Given the description of an element on the screen output the (x, y) to click on. 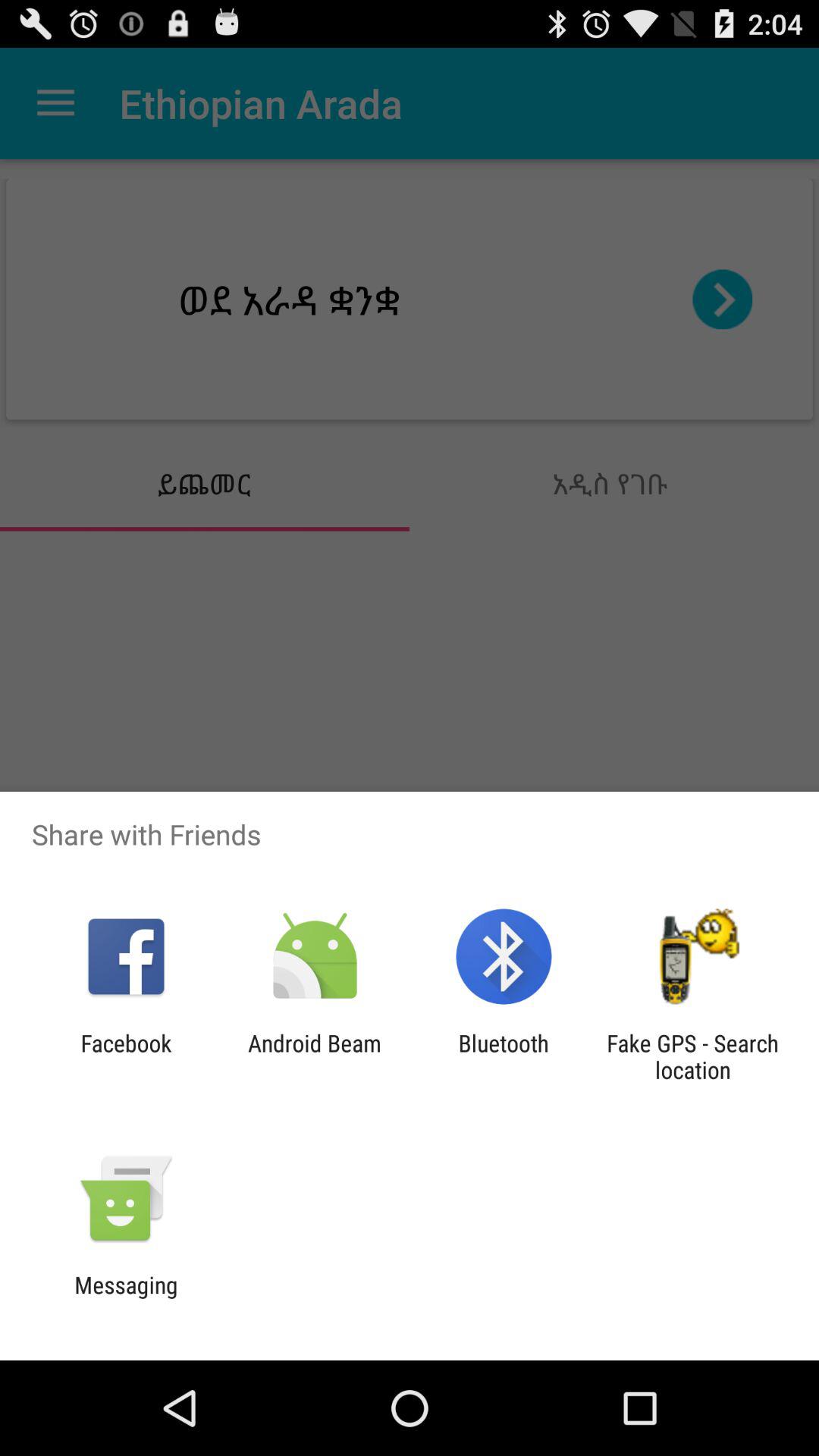
jump until the android beam icon (314, 1056)
